Given the description of an element on the screen output the (x, y) to click on. 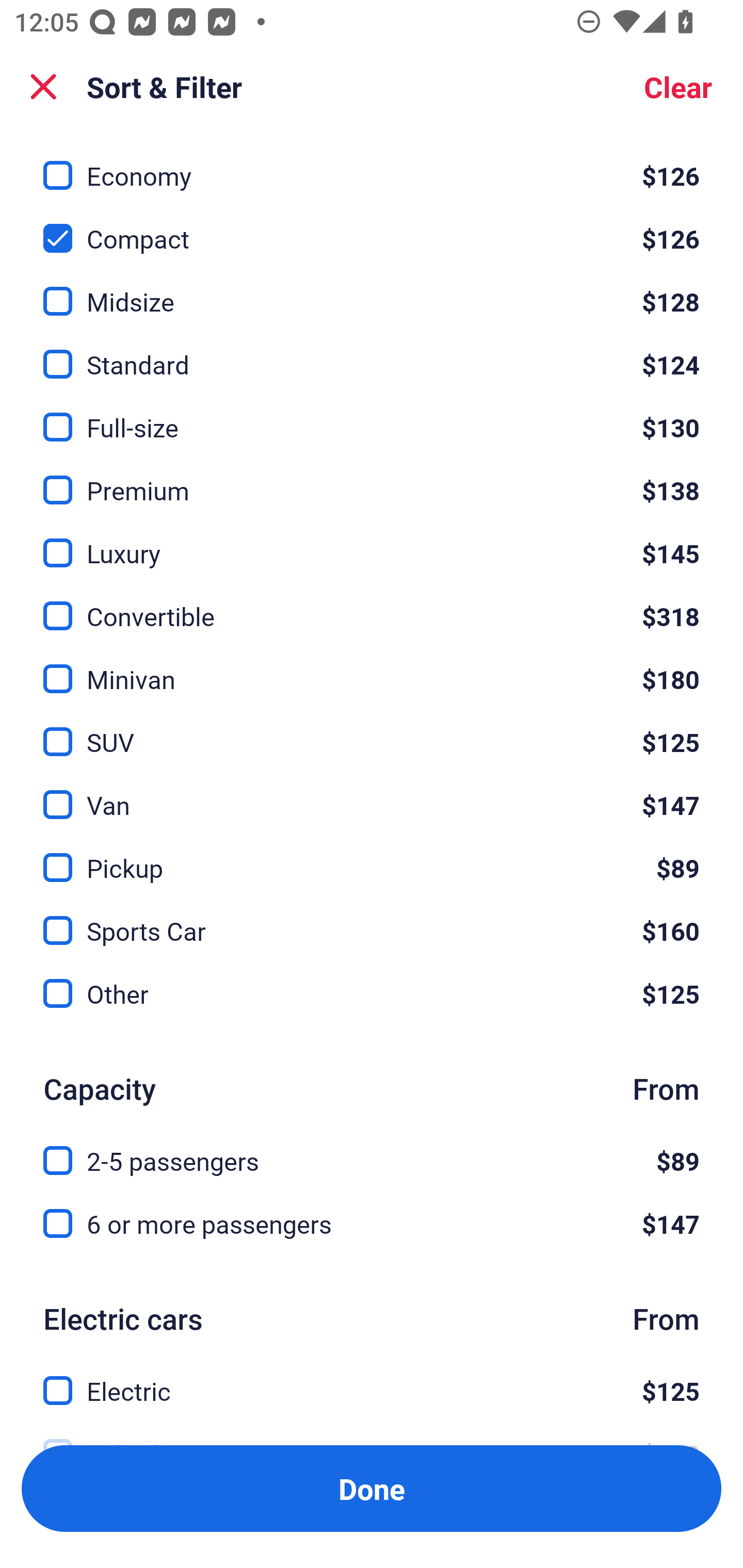
Close Sort and Filter (43, 86)
Clear (677, 86)
Economy, $126 Economy $126 (371, 164)
Compact, $126 Compact $126 (371, 227)
Midsize, $128 Midsize $128 (371, 289)
Standard, $124 Standard $124 (371, 352)
Full-size, $130 Full-size $130 (371, 415)
Premium, $138 Premium $138 (371, 477)
Luxury, $145 Luxury $145 (371, 540)
Convertible, $318 Convertible $318 (371, 604)
Minivan, $180 Minivan $180 (371, 667)
SUV, $125 SUV $125 (371, 730)
Van, $147 Van $147 (371, 793)
Pickup, $89 Pickup $89 (371, 855)
Sports Car, $160 Sports Car $160 (371, 918)
Other, $125 Other $125 (371, 994)
2-5 passengers, $89 2-5 passengers $89 (371, 1148)
Electric, $125 Electric $125 (371, 1379)
Apply and close Sort and Filter Done (371, 1488)
